Given the description of an element on the screen output the (x, y) to click on. 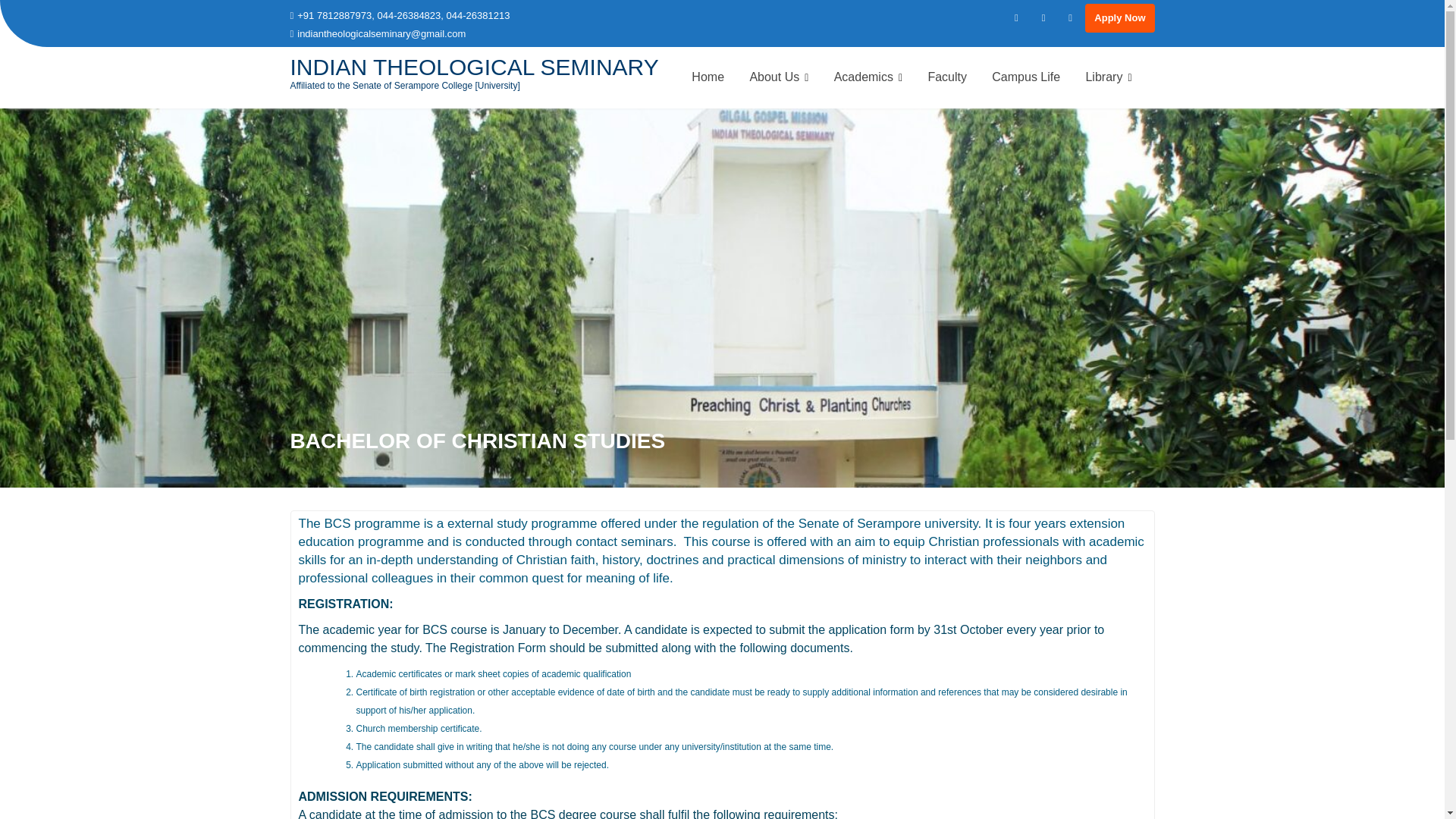
Home (707, 77)
Campus Life (1025, 77)
INDIAN THEOLOGICAL SEMINARY (473, 66)
Youtube (1070, 17)
Apply Now (1119, 18)
Academics (868, 77)
INDIAN THEOLOGICAL SEMINARY (473, 66)
Library (1108, 77)
About Us (778, 77)
Twitter (1042, 17)
Facebook (1015, 17)
Faculty (946, 77)
